Given the description of an element on the screen output the (x, y) to click on. 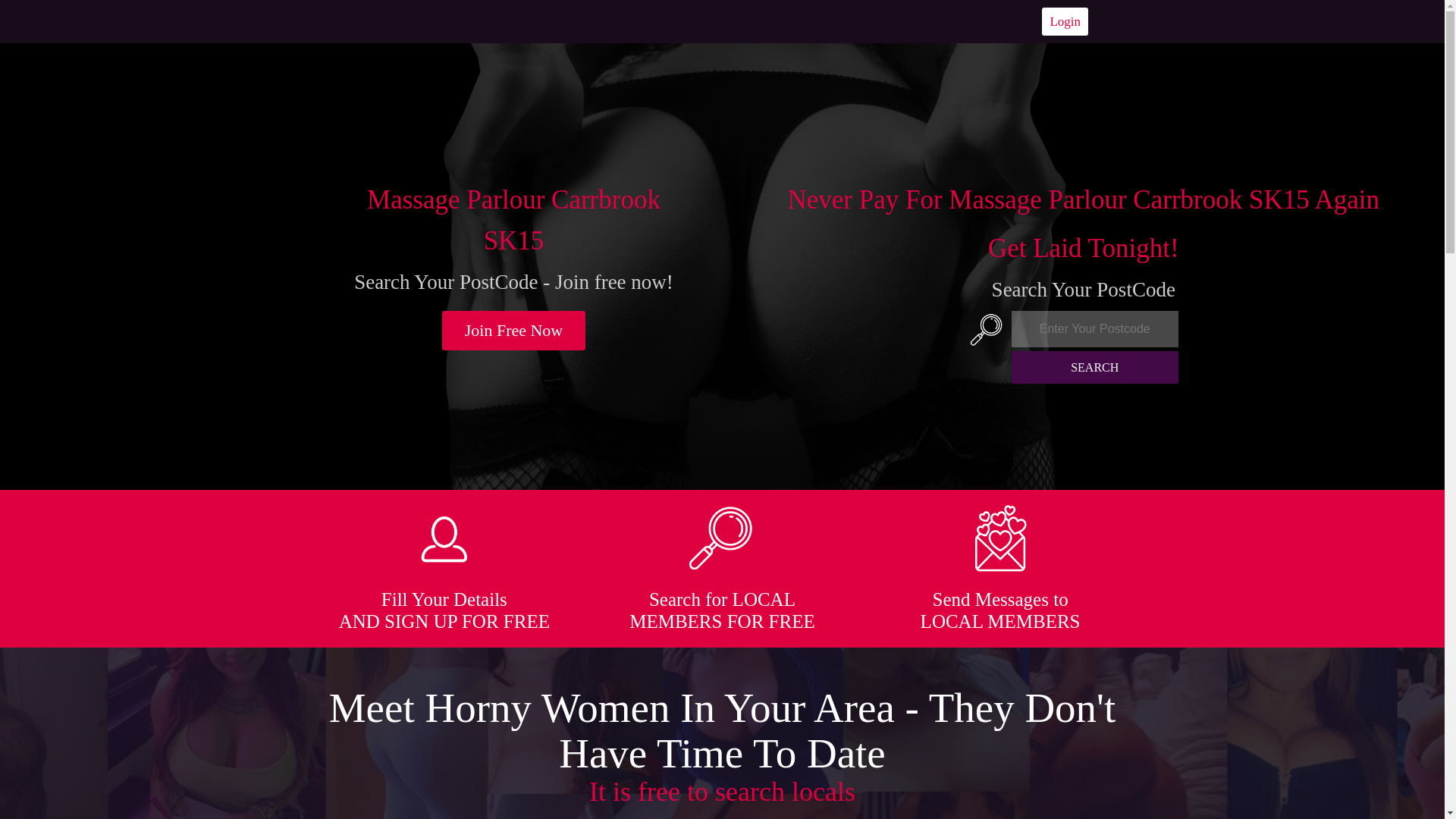
SEARCH (1094, 367)
Join Free Now (514, 330)
Login (1064, 21)
Join (514, 330)
Login to massageparloursmanchester.co.uk (1064, 21)
